Given the description of an element on the screen output the (x, y) to click on. 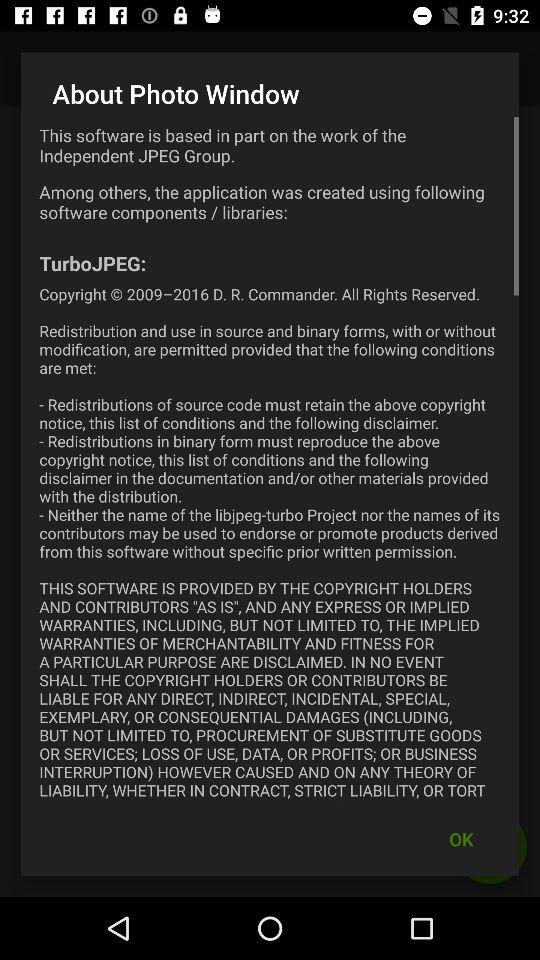
turn on the ok at the bottom right corner (461, 838)
